Given the description of an element on the screen output the (x, y) to click on. 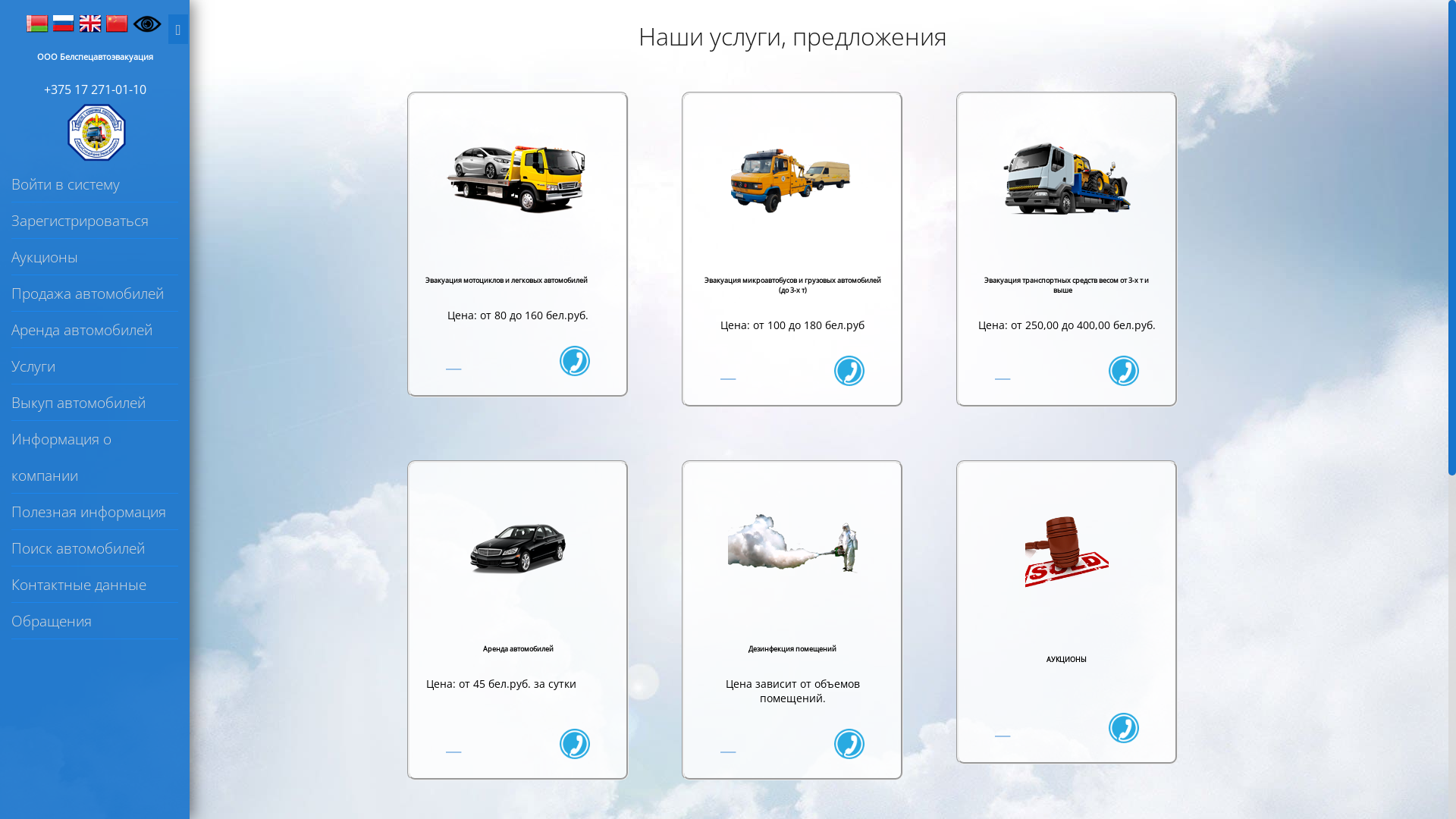
China Element type: hover (117, 23)
+375 17 271-01-10 Element type: text (94, 89)
Russia Element type: hover (64, 23)
Belarus Element type: hover (37, 23)
English Element type: hover (90, 23)
